Given the description of an element on the screen output the (x, y) to click on. 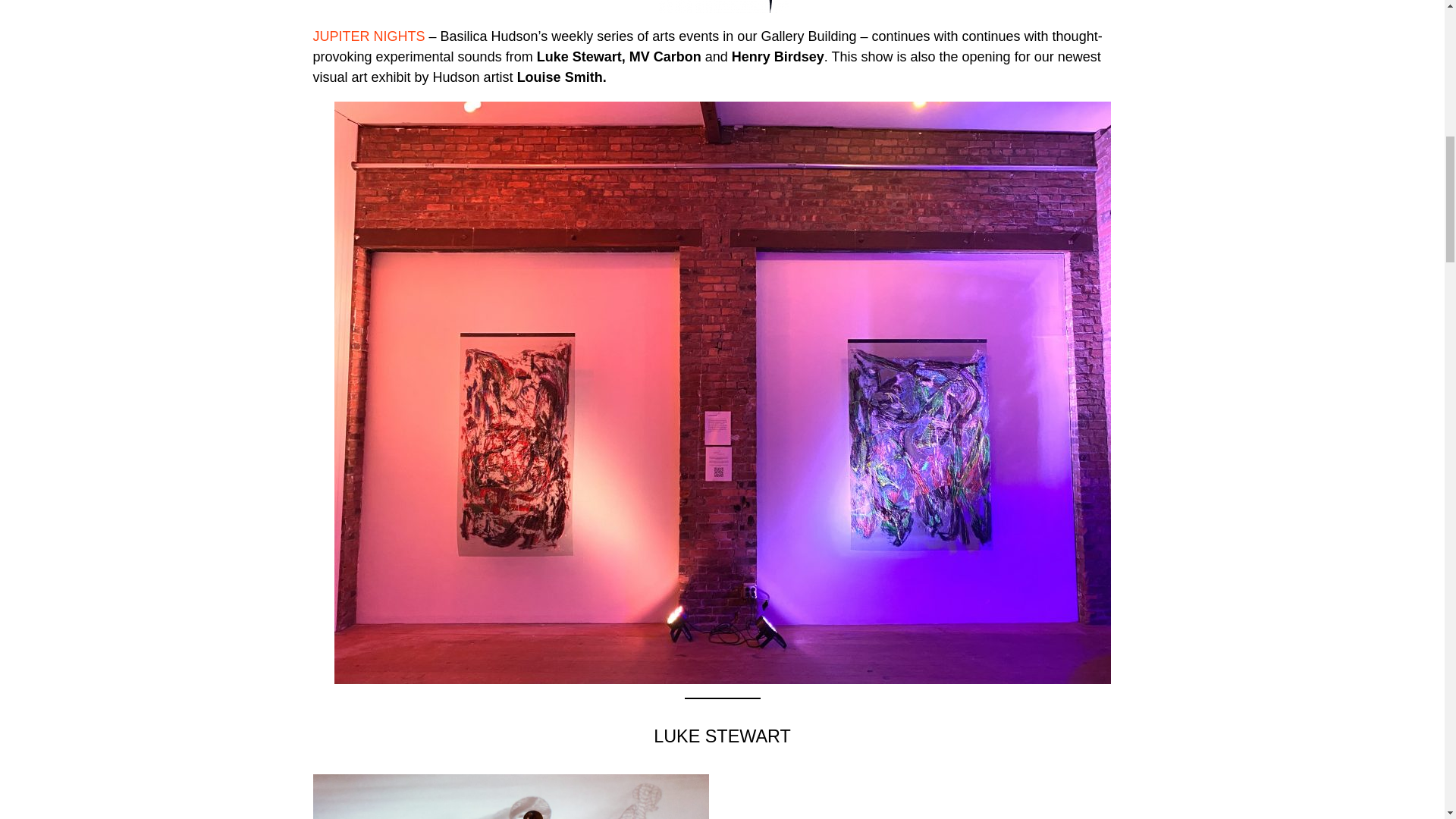
JUPITER NIGHTS (369, 36)
